Given the description of an element on the screen output the (x, y) to click on. 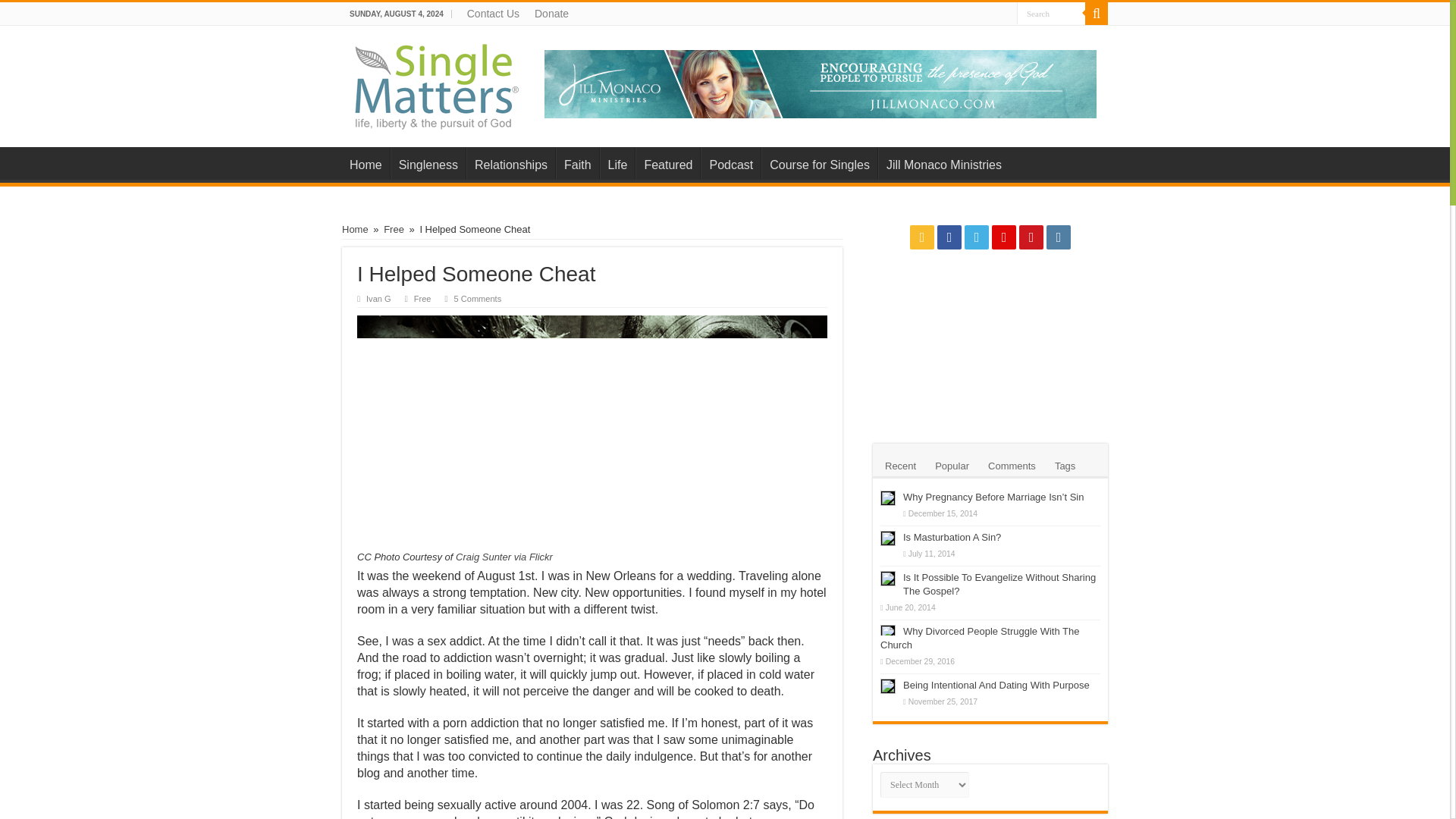
Relationships (509, 163)
Home (366, 163)
Jill Monaco Ministries (820, 82)
Single Matters Magazine with Jill Monaco Ministries (437, 83)
Podcast (730, 163)
Singleness (427, 163)
Home (355, 229)
Craig Sunter via Flickr (504, 556)
Ivan G (378, 298)
Home (366, 163)
Free (421, 298)
Search (1050, 13)
5 Comments (483, 298)
Search (1050, 13)
Donate (551, 13)
